Given the description of an element on the screen output the (x, y) to click on. 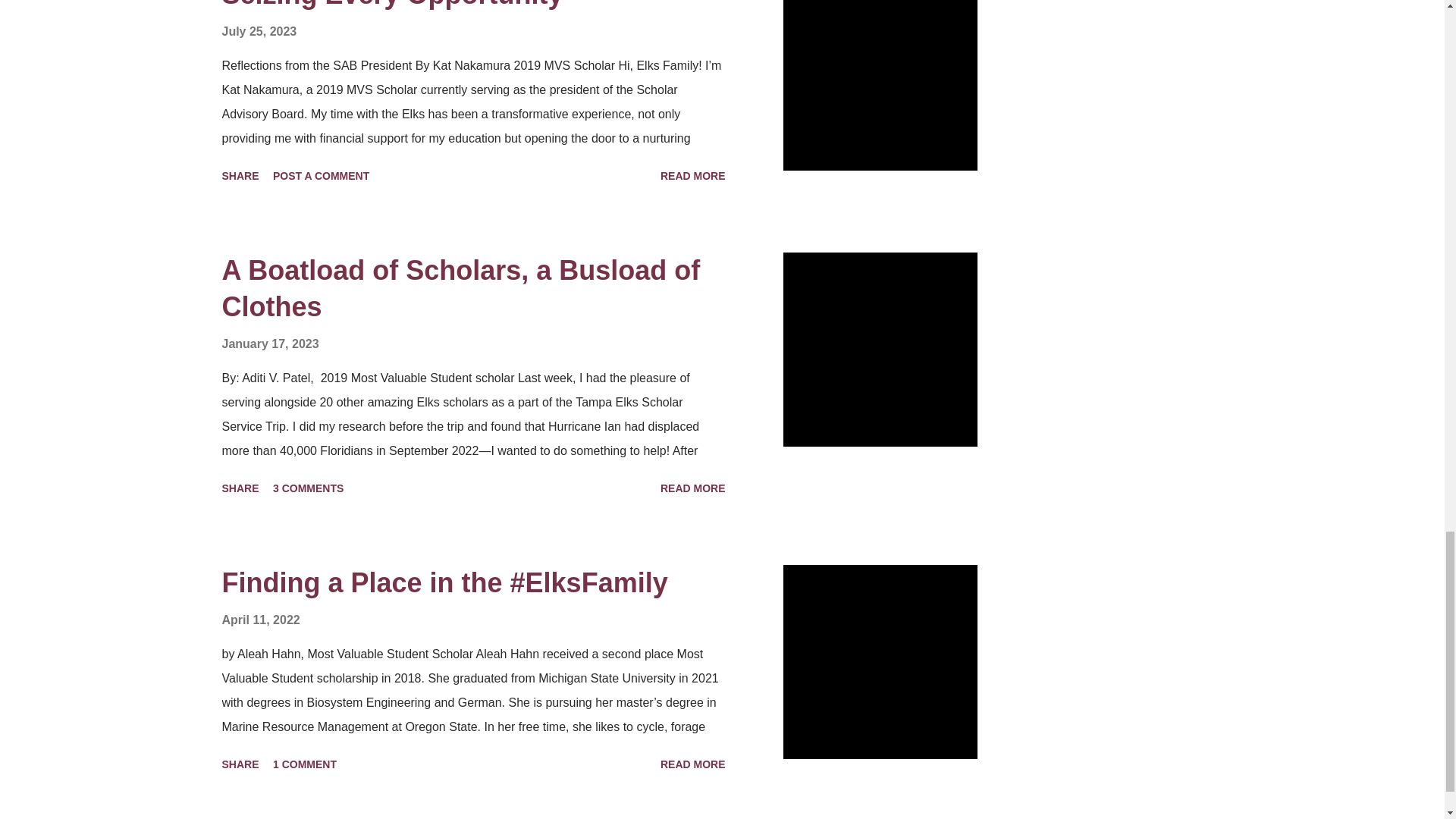
permanent link (259, 31)
